Given the description of an element on the screen output the (x, y) to click on. 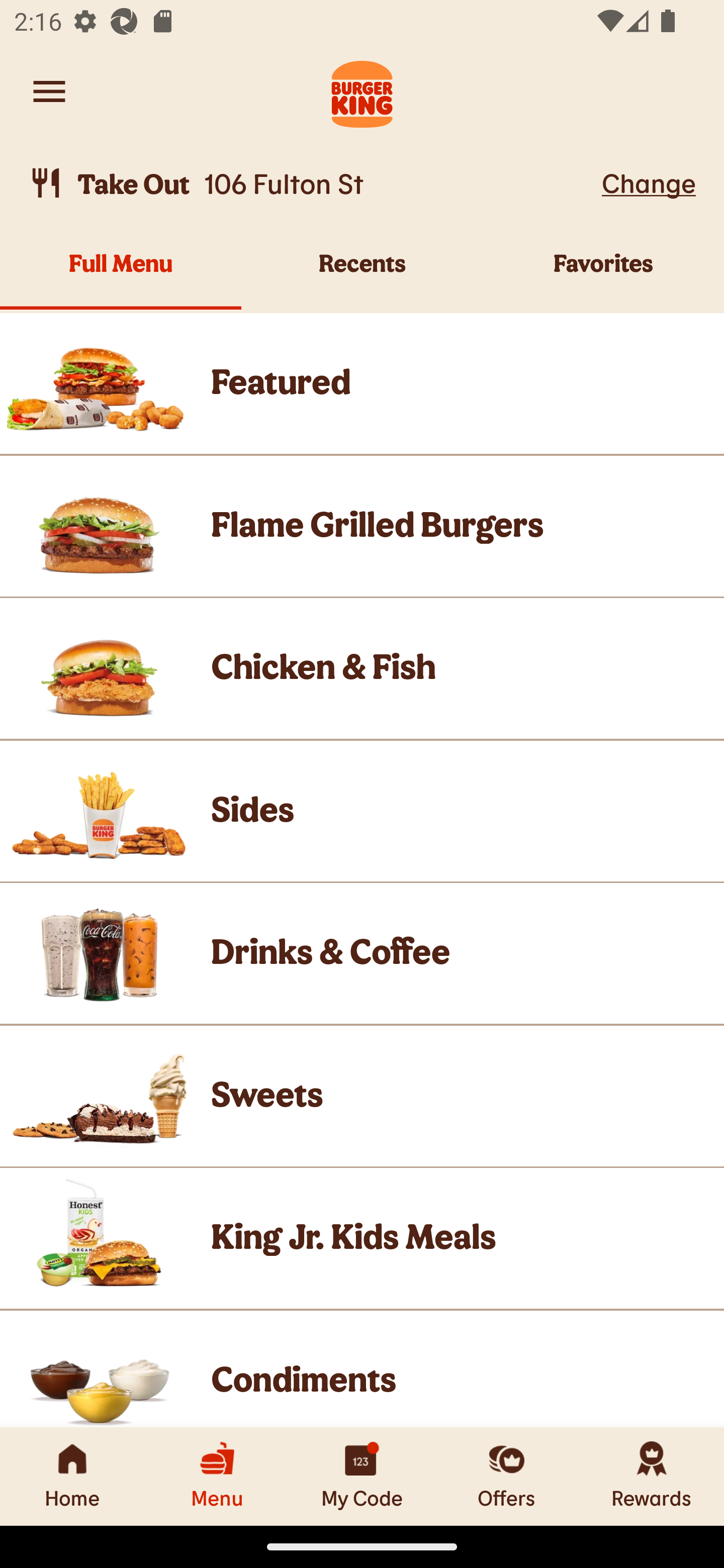
Burger King Logo. Navigate to Home (362, 91)
Navigate to account menu  (49, 91)
Take Out, 106 Fulton St  Take Out 106 Fulton St (311, 183)
Change (648, 182)
Full Menu (120, 273)
Recents (361, 273)
Favorites (603, 273)
Product Image, Featured Product Image Featured (362, 383)
Product Image, Sides Product Image Sides (362, 810)
Product Image, Sweets Product Image Sweets (362, 1095)
Product Image, Condiments Product Image Condiments (362, 1368)
Home (72, 1475)
Menu (216, 1475)
My Code (361, 1475)
Offers (506, 1475)
Rewards (651, 1475)
